Given the description of an element on the screen output the (x, y) to click on. 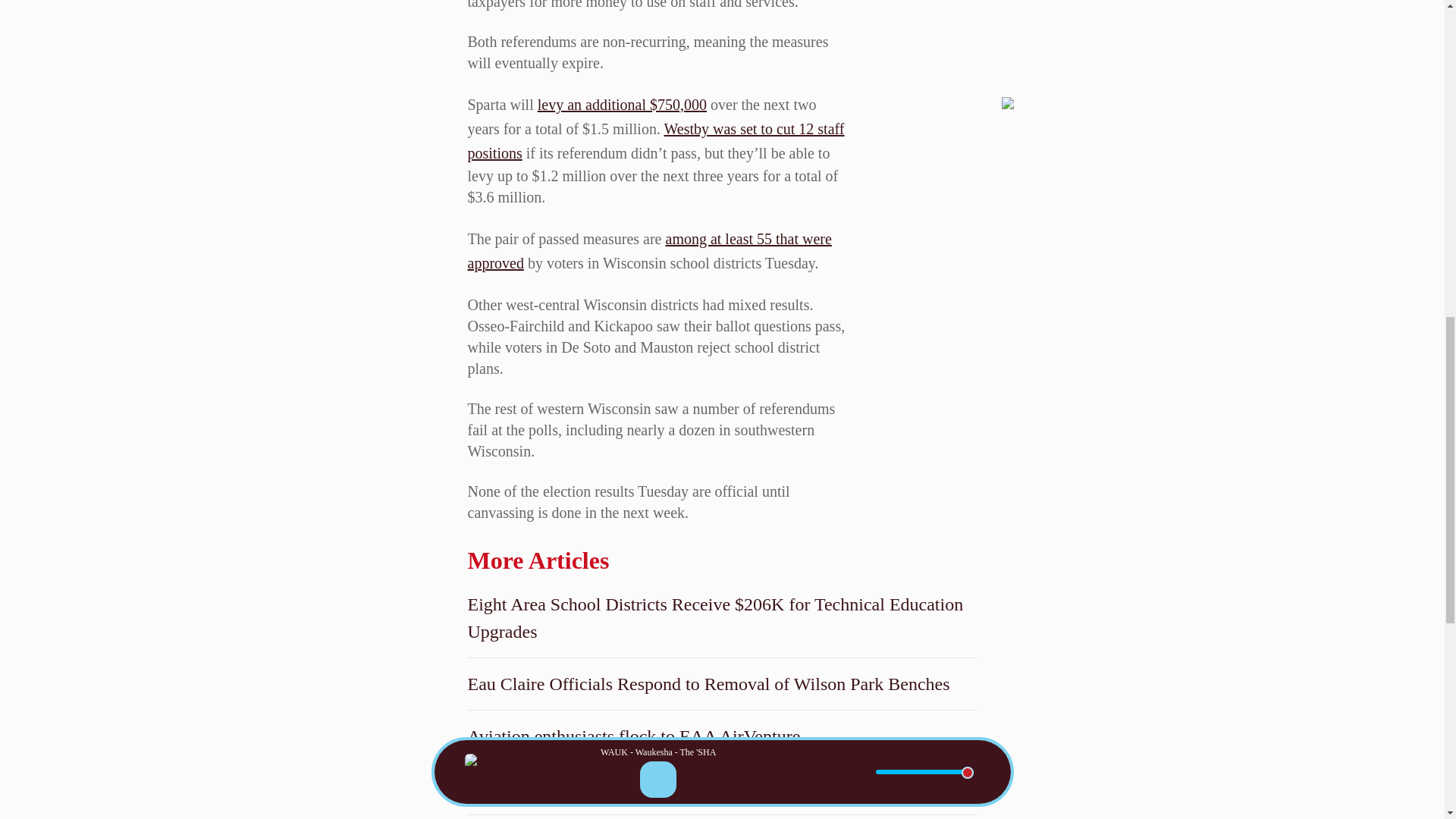
Westby was set to cut 12 staff positions (655, 140)
Aviation enthusiasts flock to EAA AirVenture (721, 736)
among at least 55 that were approved (649, 250)
8th Congressional District Republican candidates debate (721, 788)
